Given the description of an element on the screen output the (x, y) to click on. 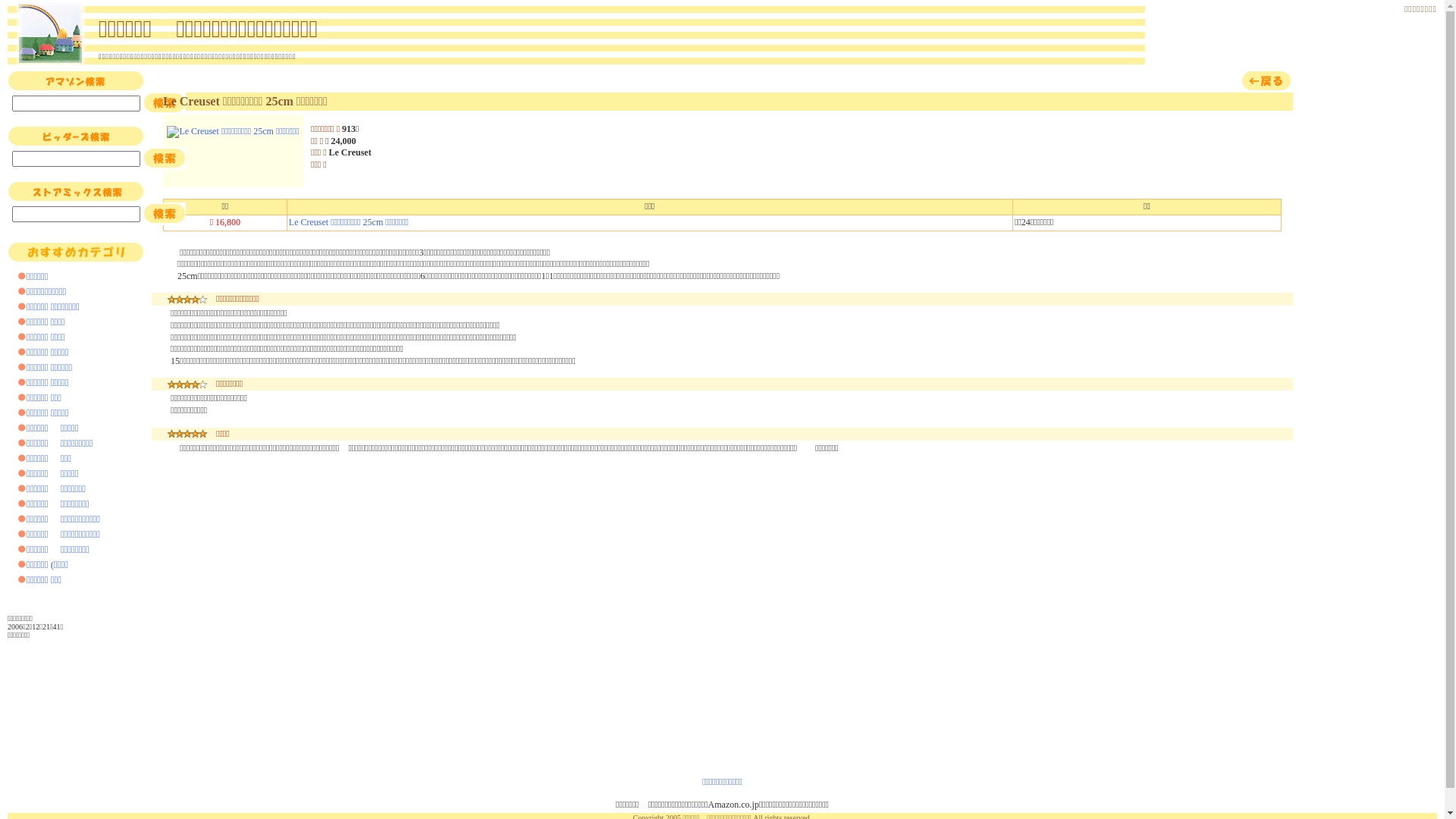
Advertisement Element type: hover (1368, 296)
